Given the description of an element on the screen output the (x, y) to click on. 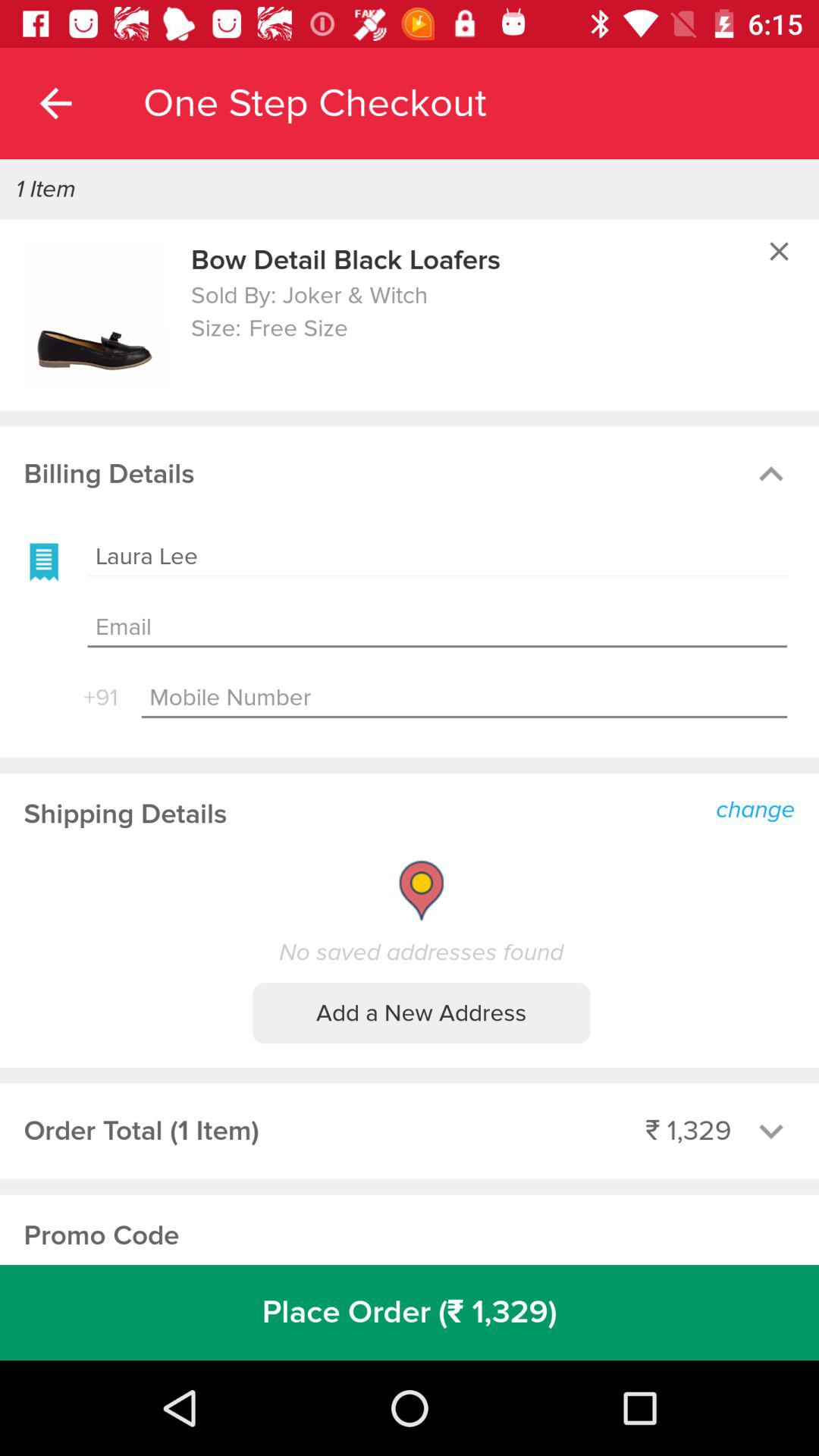
select the item below the no saved addresses (421, 1012)
